Given the description of an element on the screen output the (x, y) to click on. 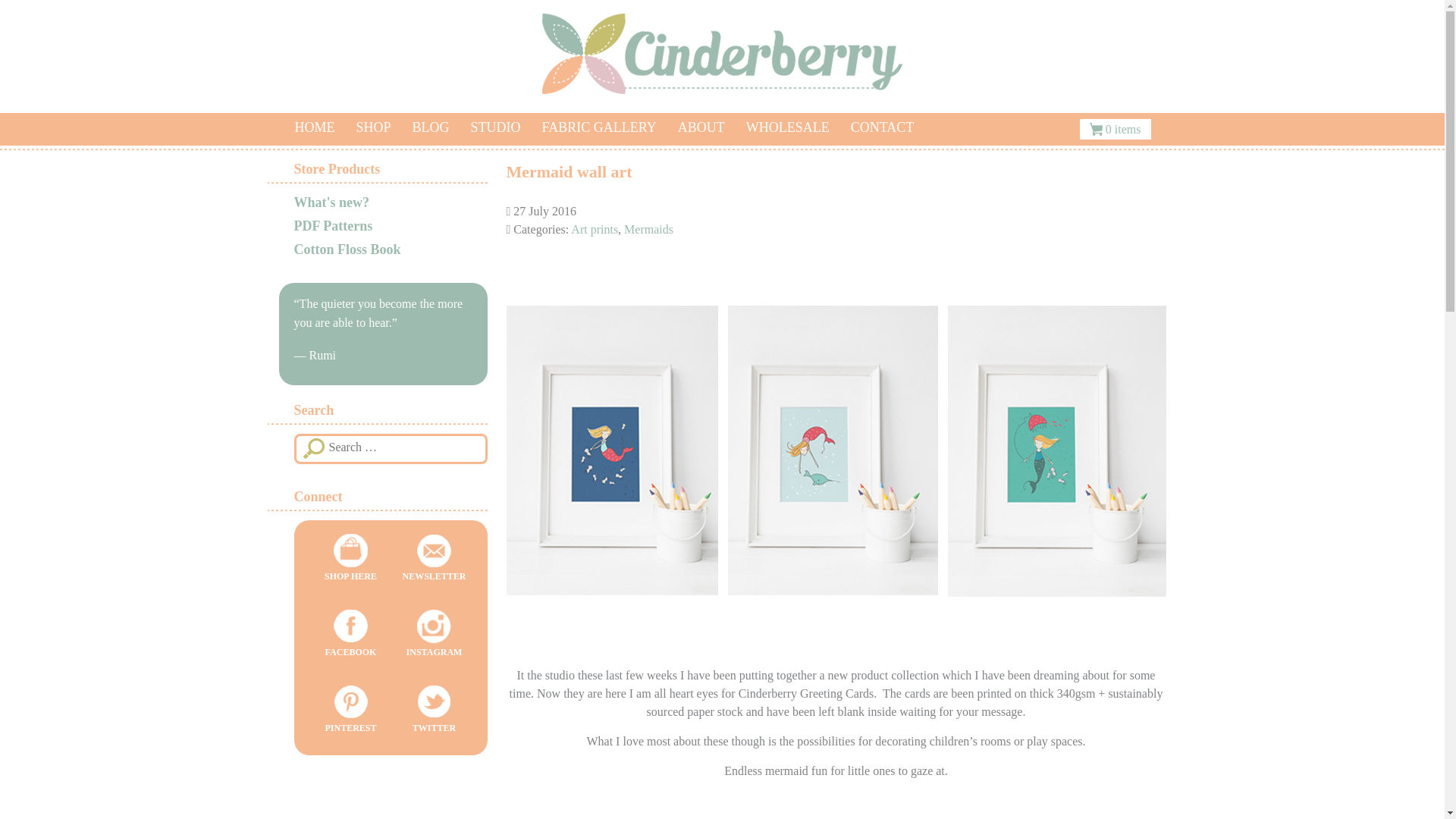
SHOP HERE (350, 563)
Gantry 5 (721, 53)
TWITTER (434, 715)
Search (314, 448)
SHOP (373, 126)
Mermaids (648, 228)
Search (314, 448)
NEWSLETTER (434, 563)
Start shopping (1115, 128)
Art prints (593, 228)
